Given the description of an element on the screen output the (x, y) to click on. 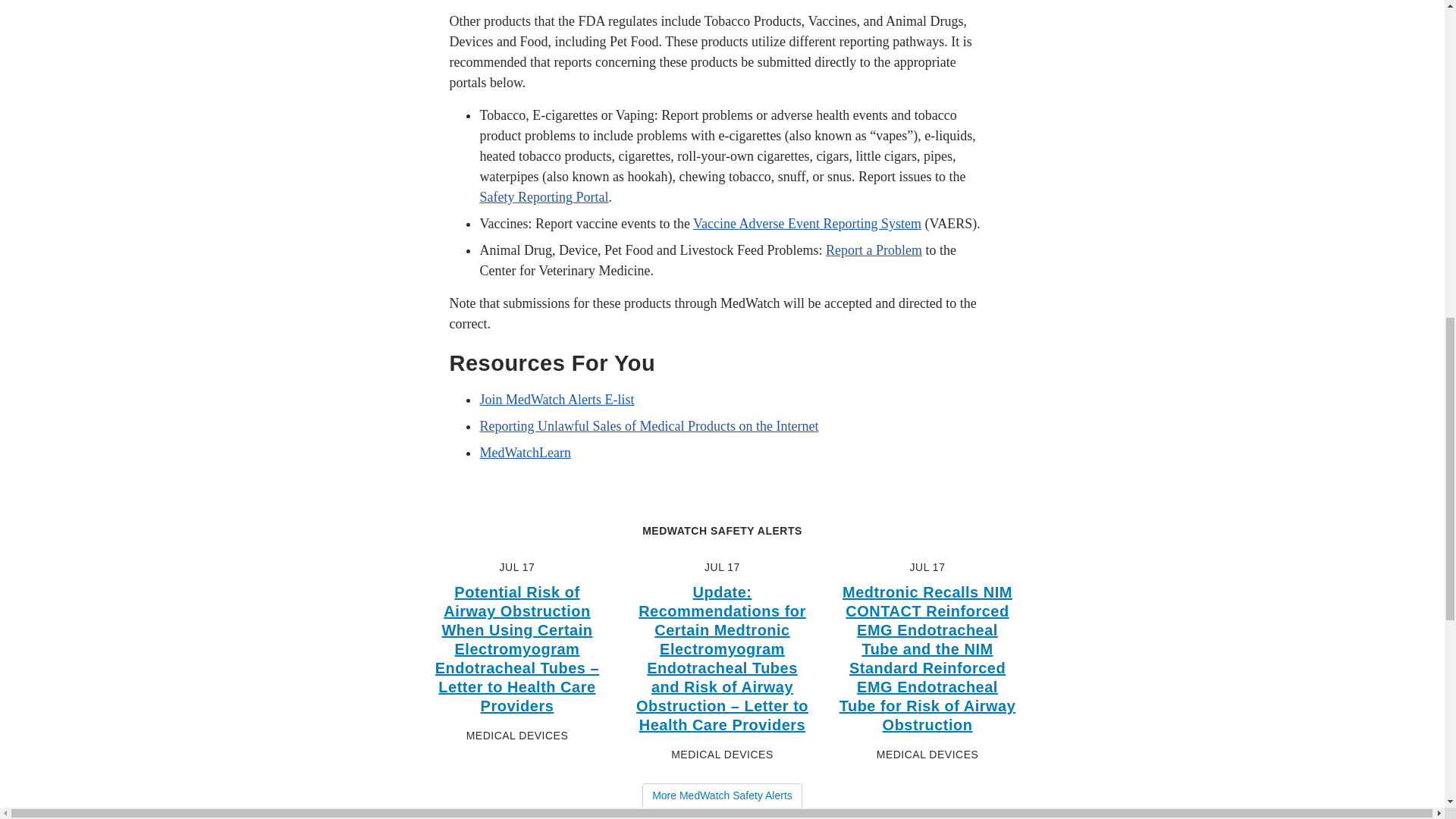
Reporting Unlawful Sales of Medical Products on the Internet (648, 426)
About the MedWatch E-list (556, 399)
